Given the description of an element on the screen output the (x, y) to click on. 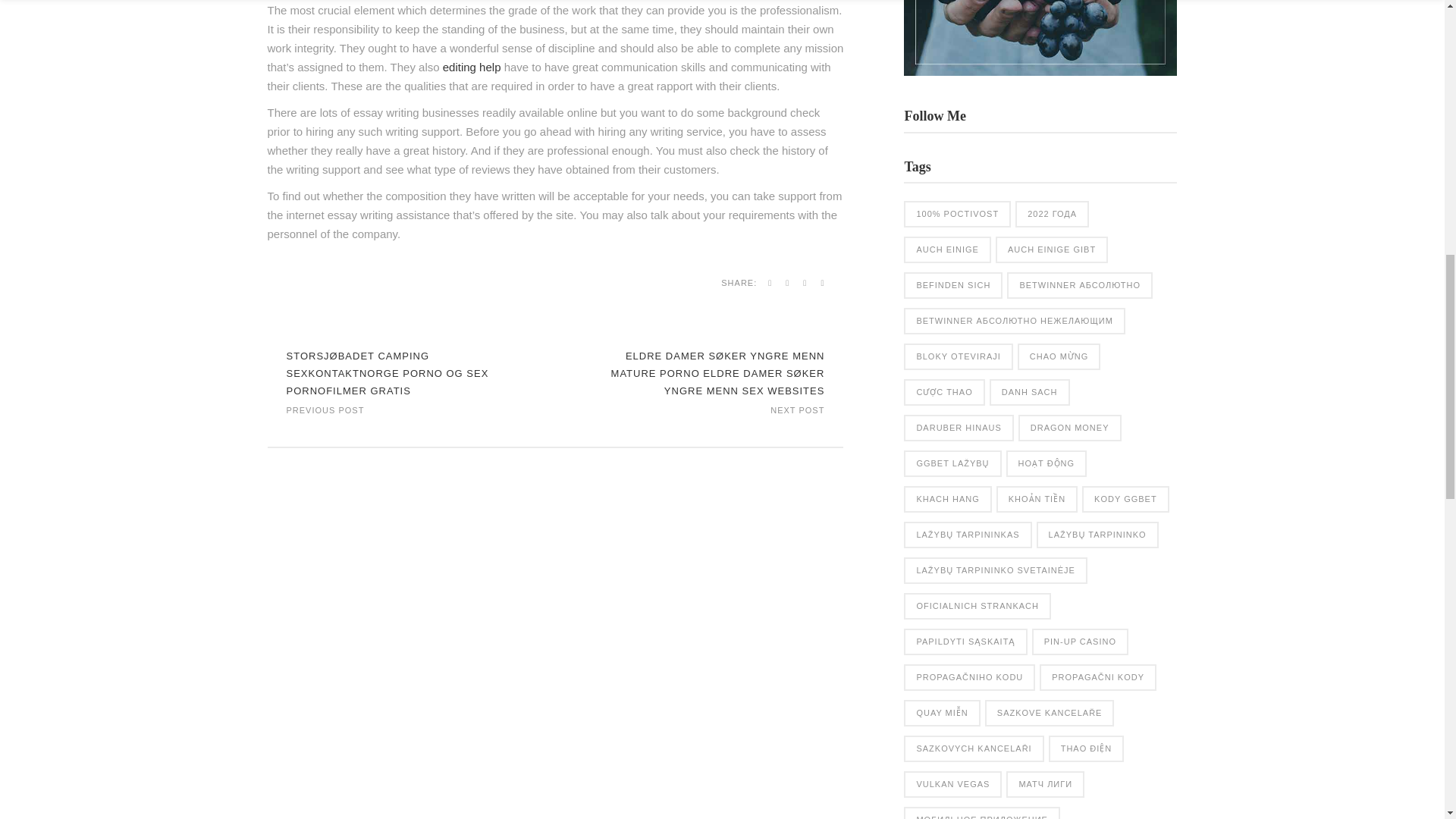
DANH SACH (1030, 392)
DARUBER HINAUS (958, 427)
DRAGON MONEY (1069, 427)
BLOKY OTEVIRAJI (957, 356)
AUCH EINIGE (947, 249)
PREVIOUS POST (325, 408)
BEFINDEN SICH (953, 284)
KHACH HANG (947, 499)
NEXT POST (797, 408)
PIN-UP CASINO (1080, 641)
editing help (471, 66)
AUCH EINIGE GIBT (1051, 249)
OFICIALNICH STRANKACH (977, 605)
KODY GGBET (1125, 499)
